Given the description of an element on the screen output the (x, y) to click on. 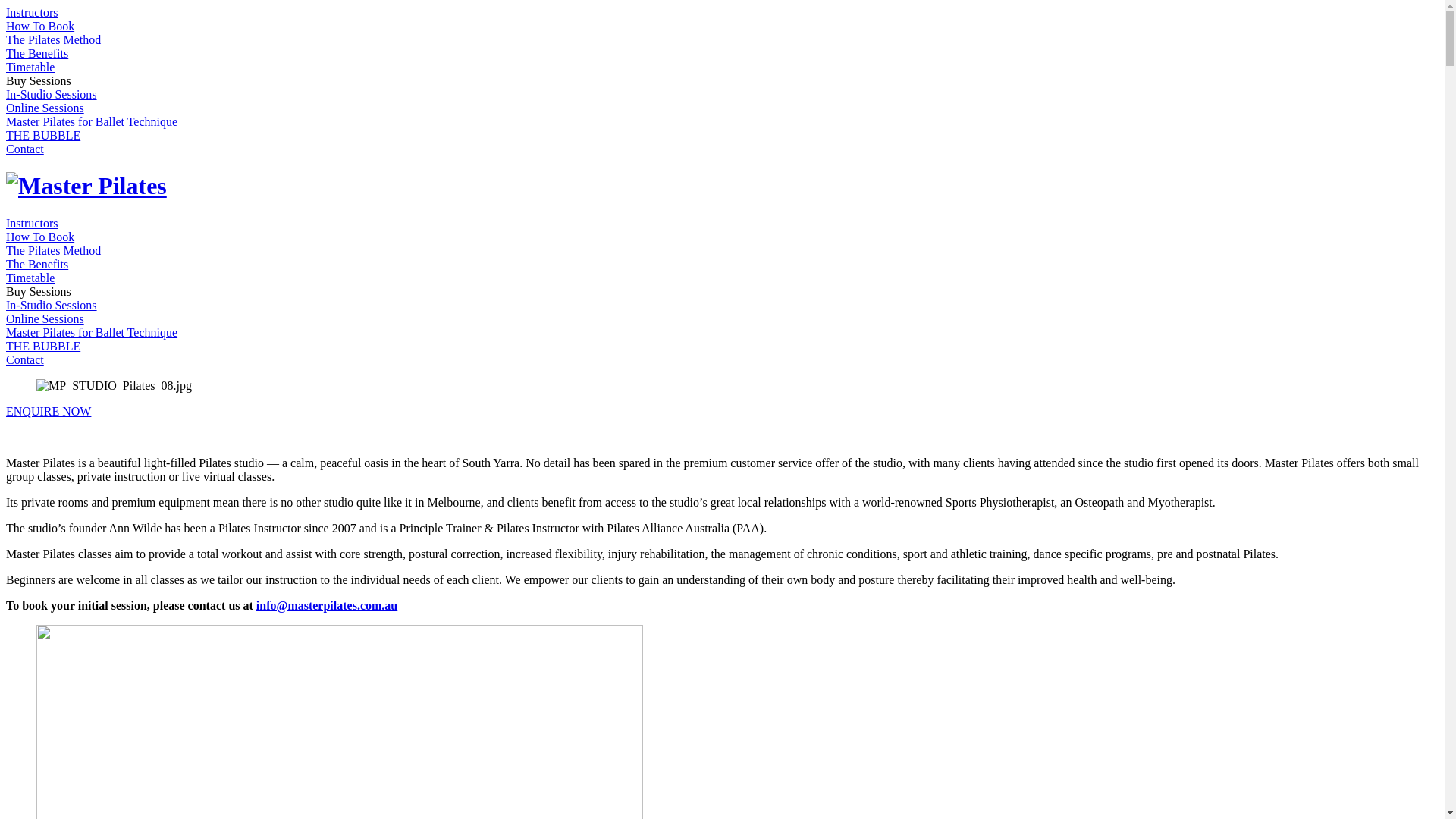
Master Pilates for Ballet Technique Element type: text (91, 332)
Timetable Element type: text (30, 66)
The Benefits Element type: text (37, 53)
Instructors Element type: text (31, 222)
The Benefits Element type: text (37, 263)
Online Sessions Element type: text (45, 318)
How To Book Element type: text (40, 25)
Online Sessions Element type: text (45, 107)
How To Book Element type: text (40, 236)
Timetable Element type: text (30, 277)
The Pilates Method Element type: text (53, 39)
Instructors Element type: text (31, 12)
THE BUBBLE Element type: text (43, 134)
THE BUBBLE Element type: text (43, 345)
ENQUIRE NOW Element type: text (48, 410)
Contact Element type: text (24, 148)
In-Studio Sessions Element type: text (51, 304)
Contact Element type: text (24, 359)
Master Pilates for Ballet Technique Element type: text (91, 121)
In-Studio Sessions Element type: text (51, 93)
info@masterpilates.com.au Element type: text (326, 605)
The Pilates Method Element type: text (53, 250)
